Given the description of an element on the screen output the (x, y) to click on. 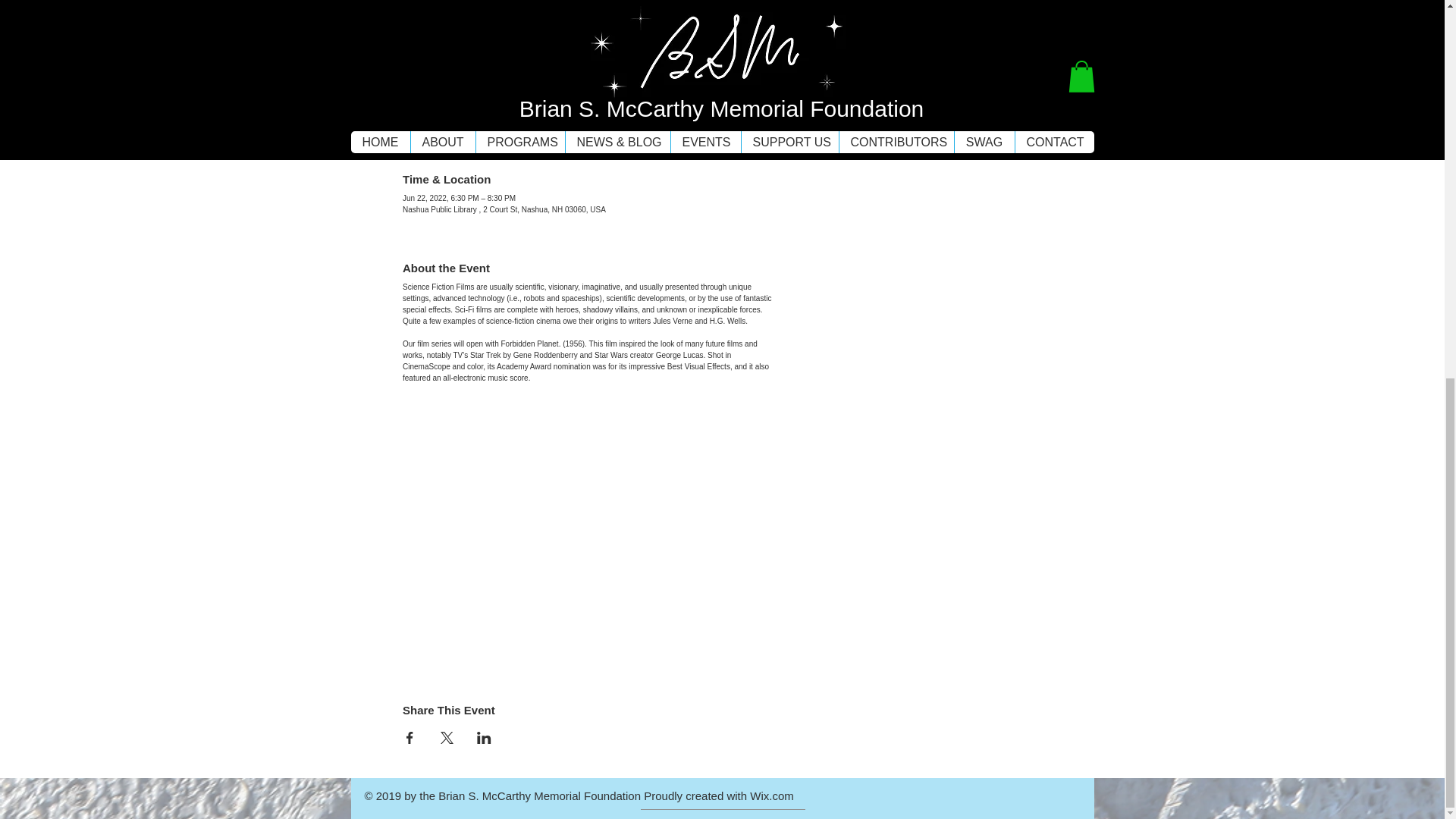
Wix.com (771, 795)
